Given the description of an element on the screen output the (x, y) to click on. 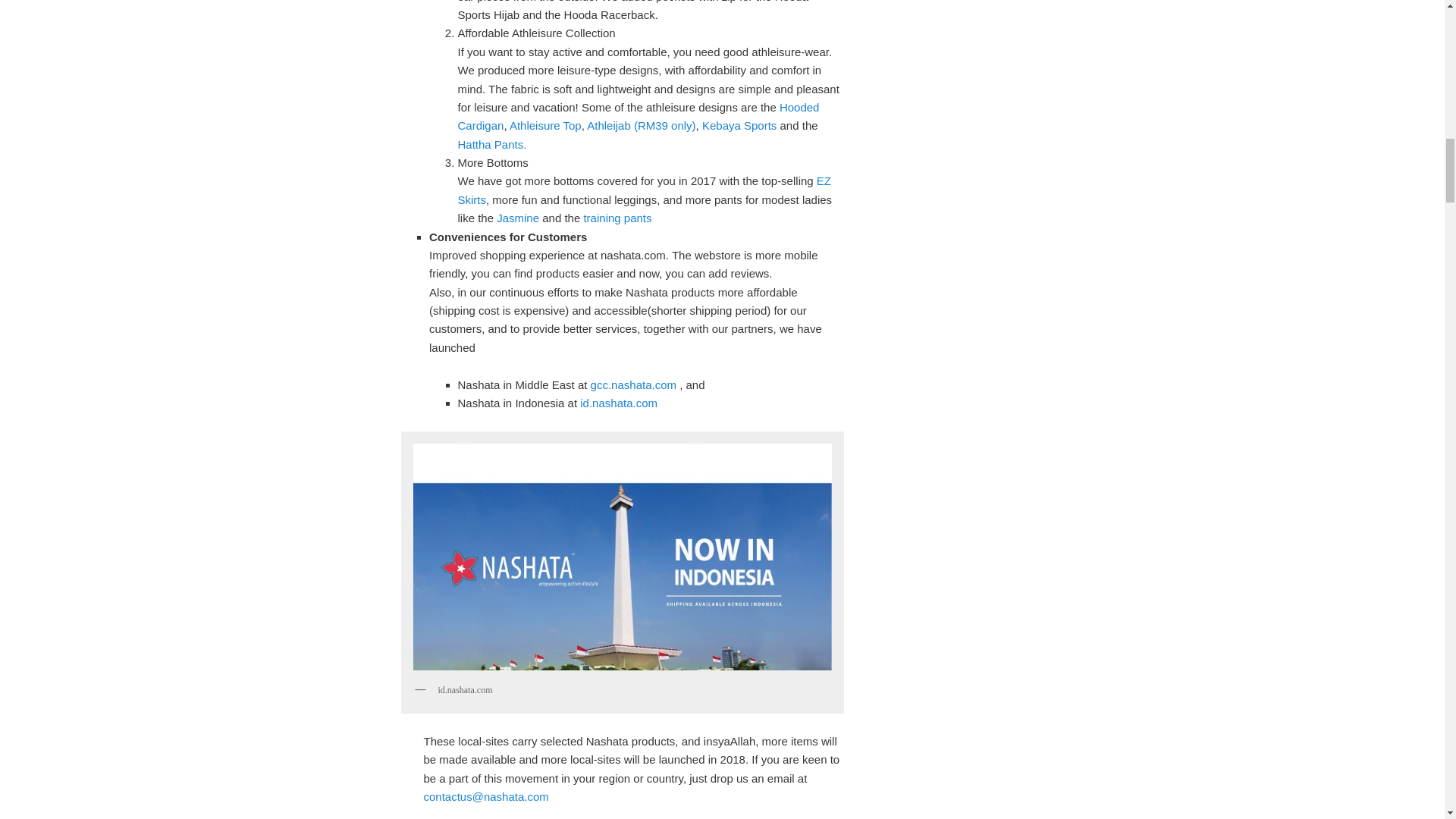
Jasmine (517, 217)
Kebaya Sports (738, 124)
Athleisure Top (544, 124)
training pants (616, 217)
EZ Skirts (644, 189)
id.nashata.com (618, 402)
Hattha Pants.  (493, 144)
gcc.nashata.com (634, 384)
Hooded Cardigan (638, 115)
